Given the description of an element on the screen output the (x, y) to click on. 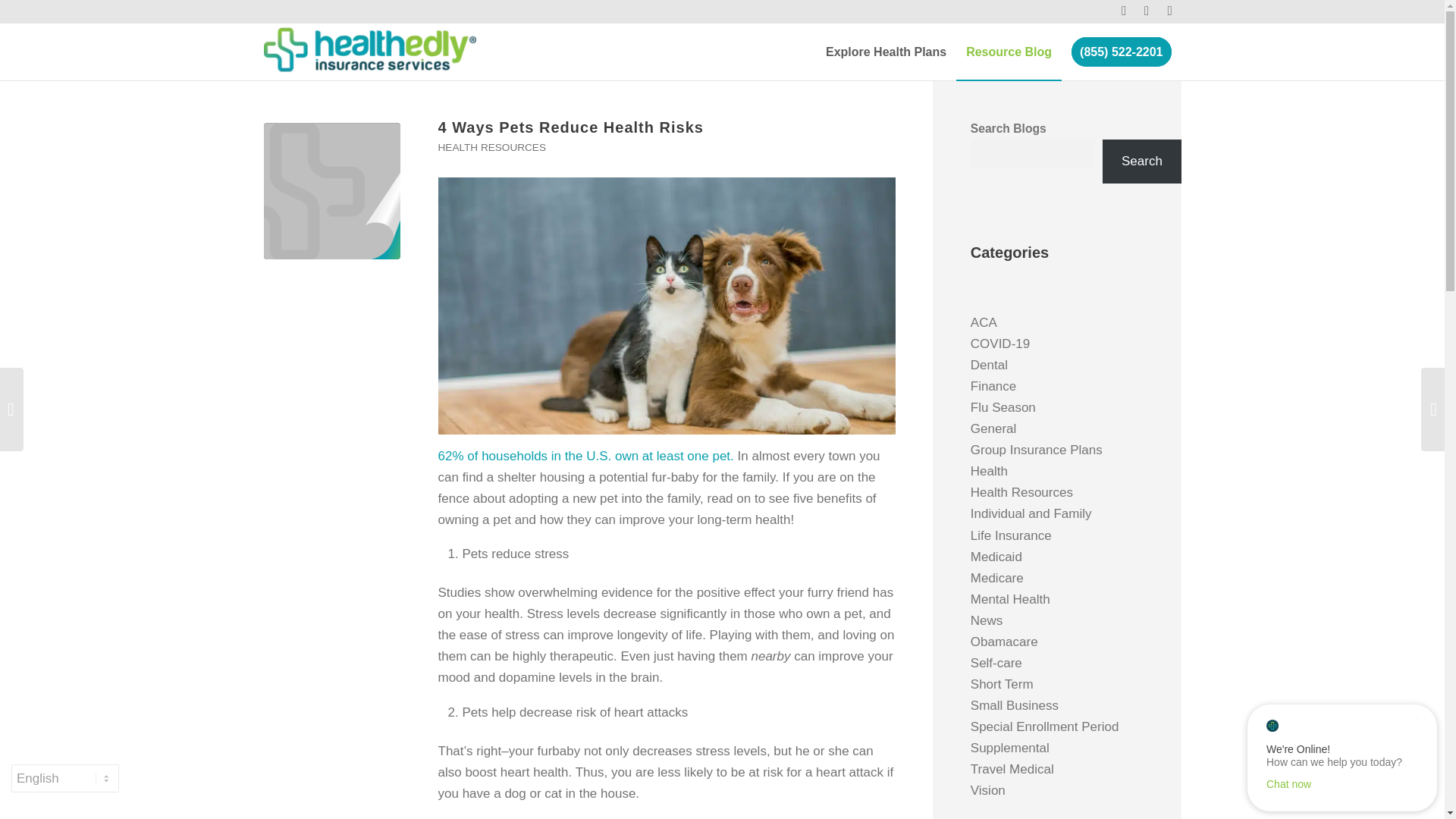
News (987, 620)
HEALTH RESOURCES (492, 147)
Flu Season (1003, 407)
Finance (993, 386)
Explore Health Plans (885, 51)
Life Insurance (1011, 535)
Mental Health (1010, 599)
Facebook (1124, 11)
Medicaid (996, 556)
Healthedly-Blog (331, 190)
Group Insurance Plans (1036, 450)
Health (989, 471)
Dental (989, 364)
Health Resources (1022, 492)
Search (1141, 161)
